Given the description of an element on the screen output the (x, y) to click on. 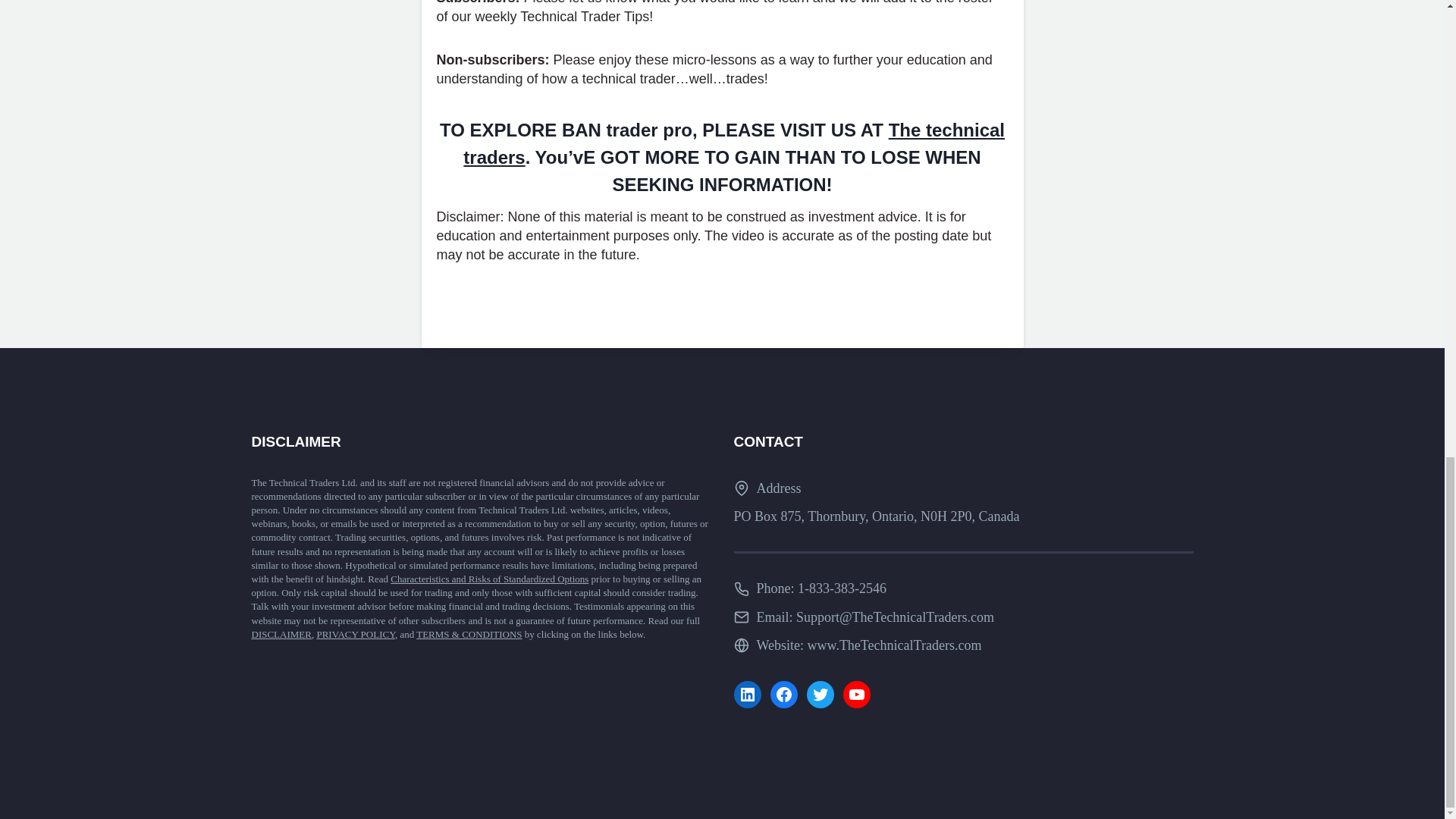
The technical traders (733, 143)
DISCLAIMER (281, 633)
PRIVACY POLICY (354, 633)
Characteristics and Risks of Standardized Options (489, 578)
